Given the description of an element on the screen output the (x, y) to click on. 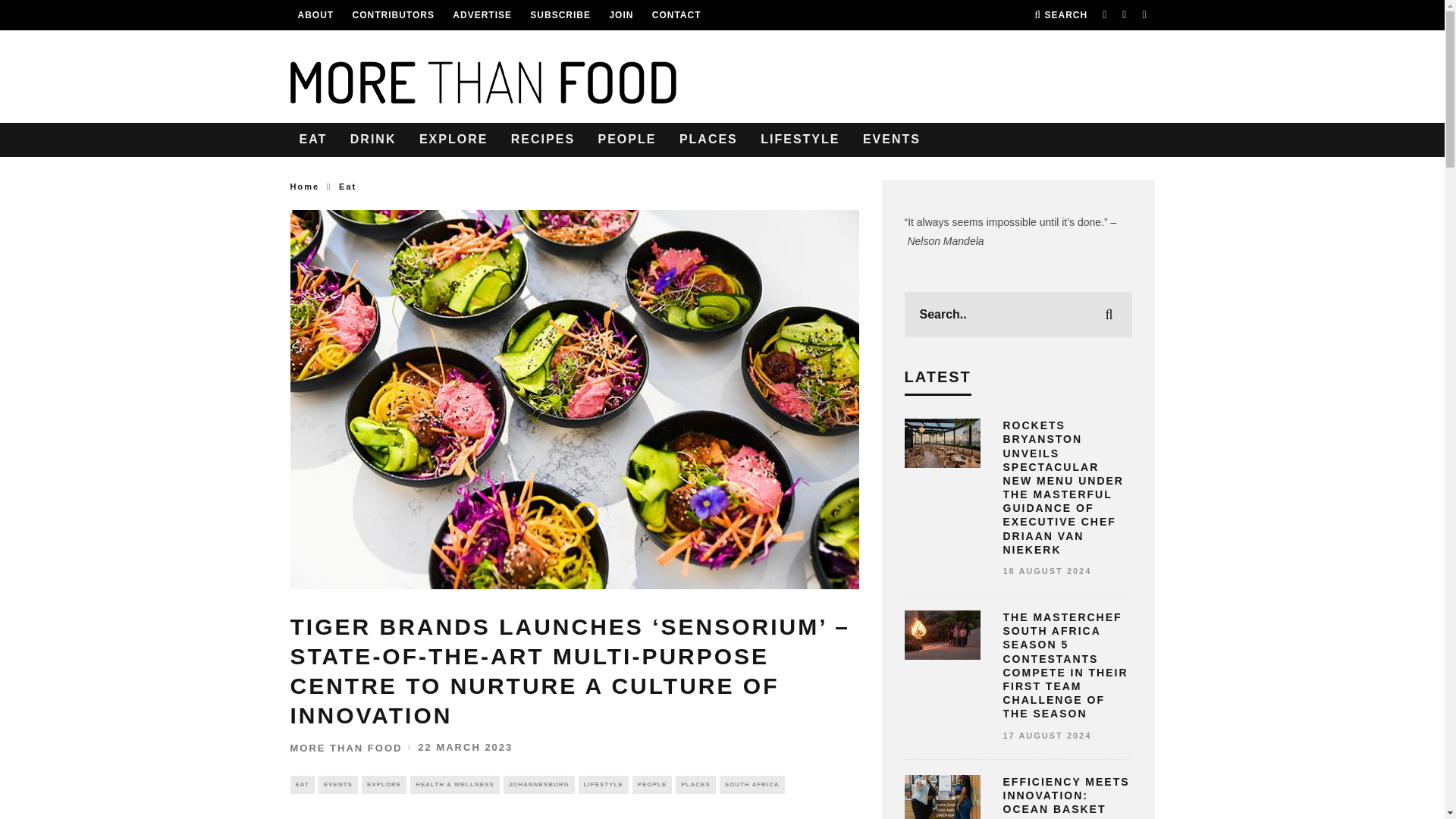
CONTACT (676, 15)
View all posts in People (651, 784)
Search (1060, 15)
SUBSCRIBE (560, 15)
View all posts in Explore (383, 784)
CONTRIBUTORS (392, 15)
View all posts in Lifestyle (603, 784)
ADVERTISE (482, 15)
View all posts in Places (694, 784)
View all posts in South Africa (751, 784)
